Given the description of an element on the screen output the (x, y) to click on. 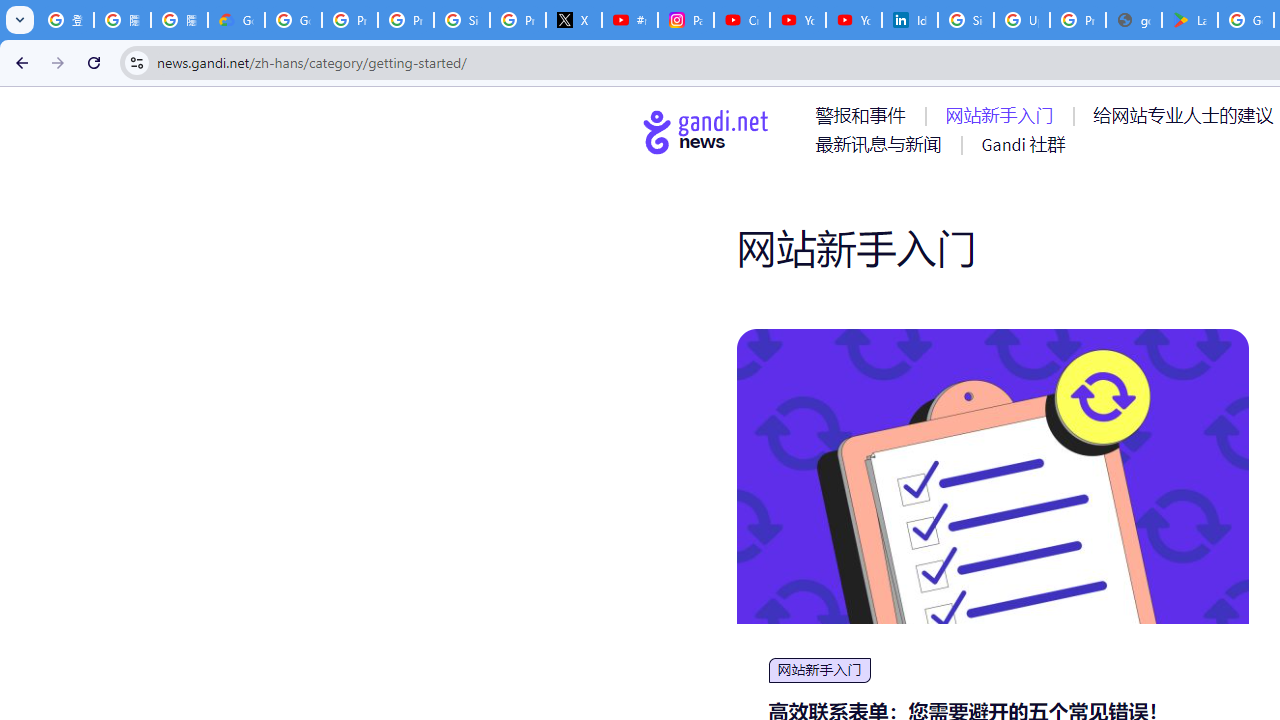
X (573, 20)
Sign in - Google Accounts (966, 20)
AutomationID: menu-item-77766 (882, 143)
Go to home (706, 131)
AutomationID: menu-item-77762 (1003, 115)
